Given the description of an element on the screen output the (x, y) to click on. 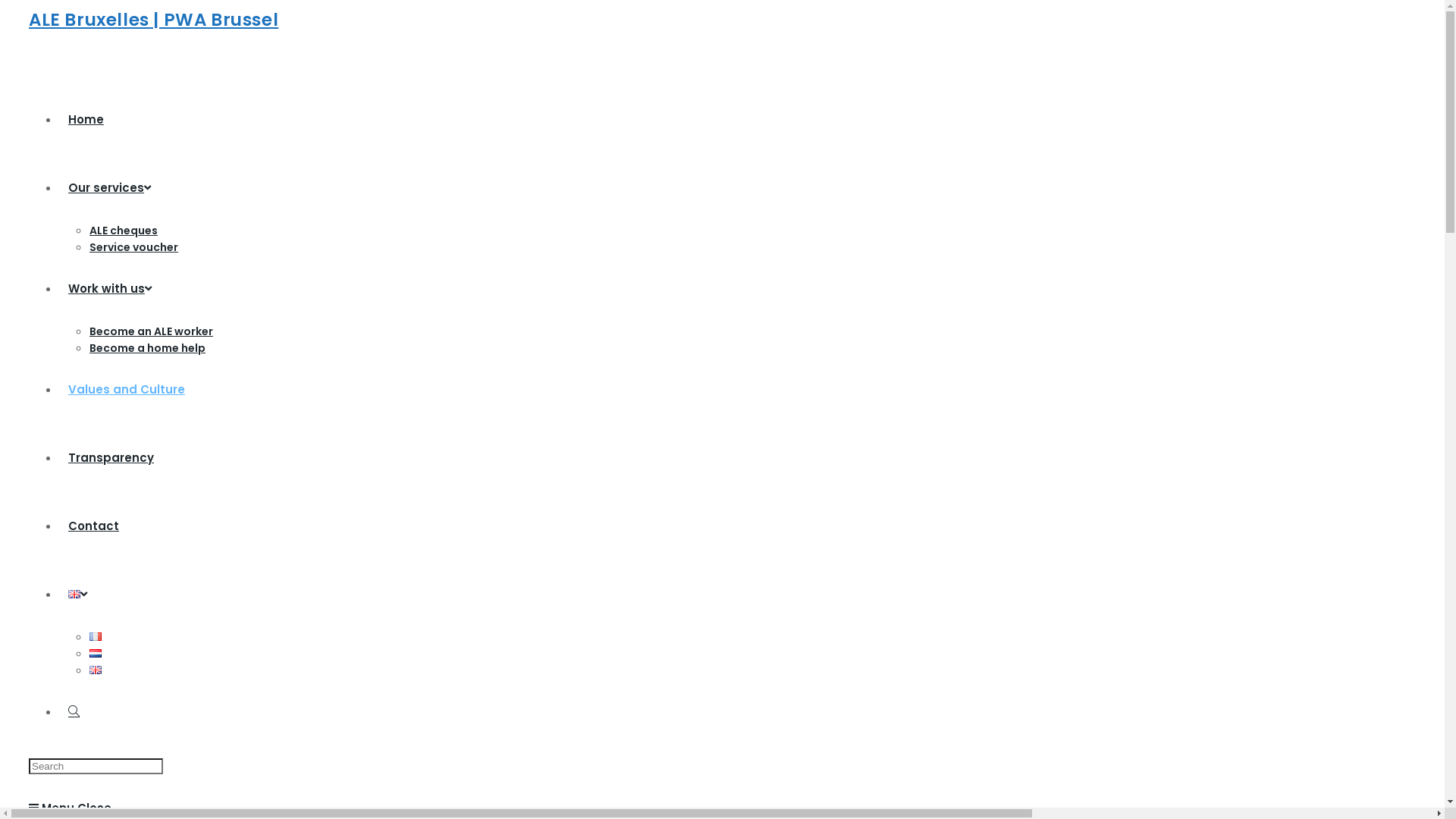
ALE Bruxelles | PWA Brussel Element type: text (153, 19)
Become an ALE worker Element type: text (151, 330)
Transparency Element type: text (111, 457)
ALE cheques Element type: text (123, 230)
Contact Element type: text (93, 525)
Toggle website search Element type: text (73, 711)
Values and Culture Element type: text (126, 389)
Service voucher Element type: text (133, 246)
Home Element type: text (85, 119)
Menu Close Element type: text (69, 807)
Work with us Element type: text (109, 288)
Become a home help Element type: text (147, 347)
Skip to content Element type: text (5, 5)
Our services Element type: text (109, 187)
